Given the description of an element on the screen output the (x, y) to click on. 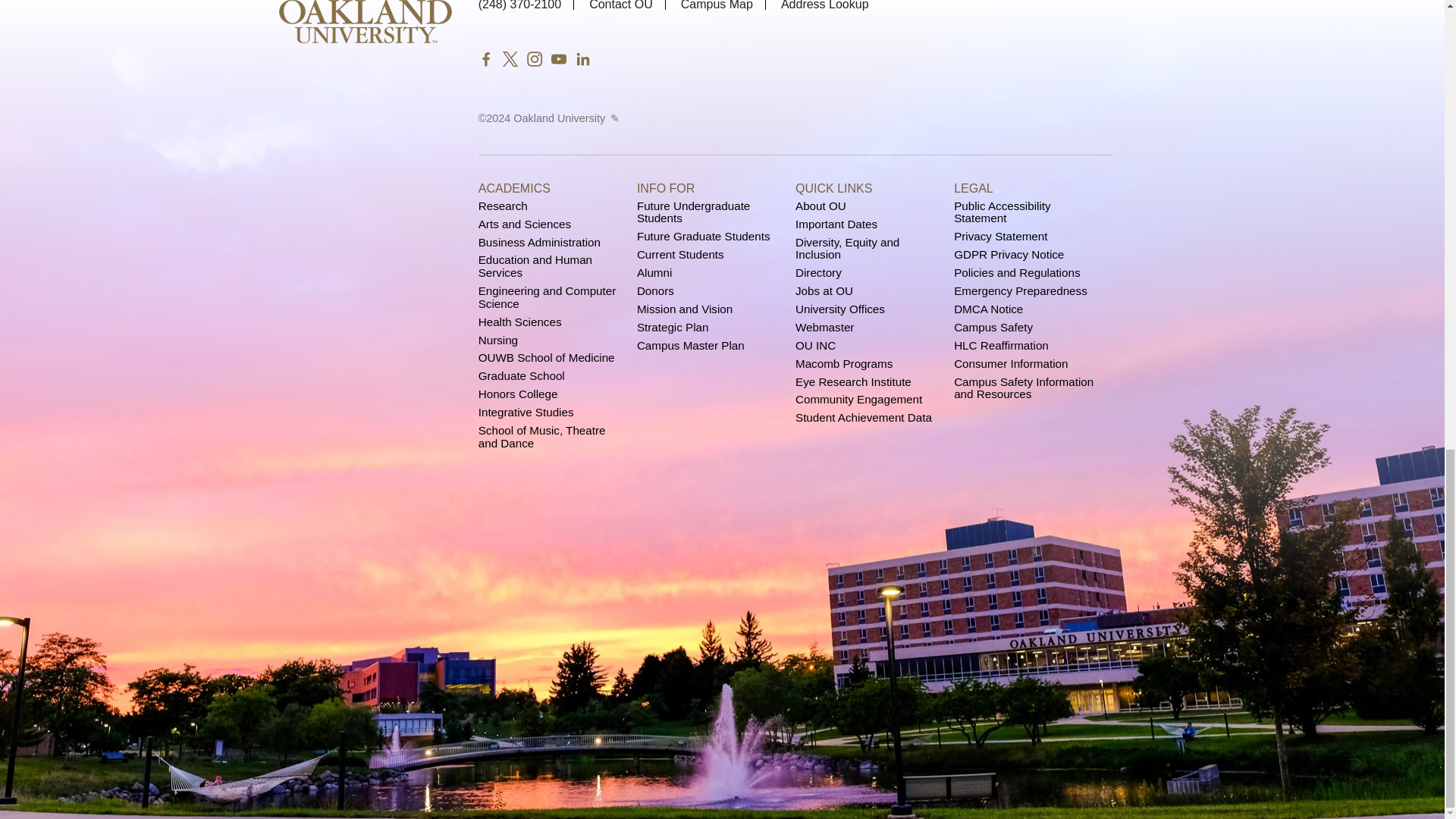
Visit our LinkedIn account (583, 58)
Visit our Twitter account (510, 58)
Visit our Youtube account (558, 58)
Visit our Facebook page (486, 58)
Visit our Instagram account (534, 58)
